Given the description of an element on the screen output the (x, y) to click on. 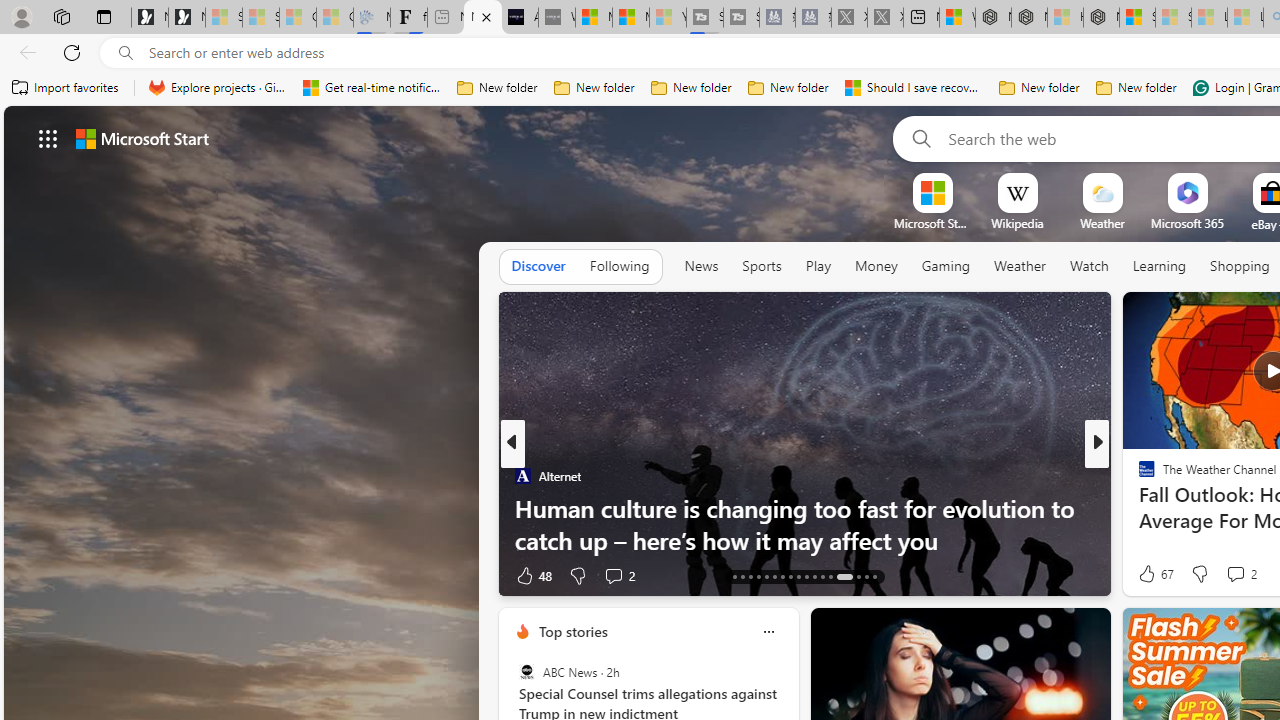
Class: icon-img (768, 632)
Start the conversation (1234, 575)
View comments 2 Comment (1240, 574)
Top 5 Scary Videos (1138, 507)
Microsoft 365 (1186, 223)
Play (817, 265)
Shopping (1240, 265)
Following (619, 267)
AutomationID: tab-21 (765, 576)
AutomationID: tab-18 (742, 576)
Nordace - Nordace Siena Is Not An Ordinary Backpack (1101, 17)
AutomationID: tab-23 (782, 576)
AutomationID: tab-24 (789, 576)
